Given the description of an element on the screen output the (x, y) to click on. 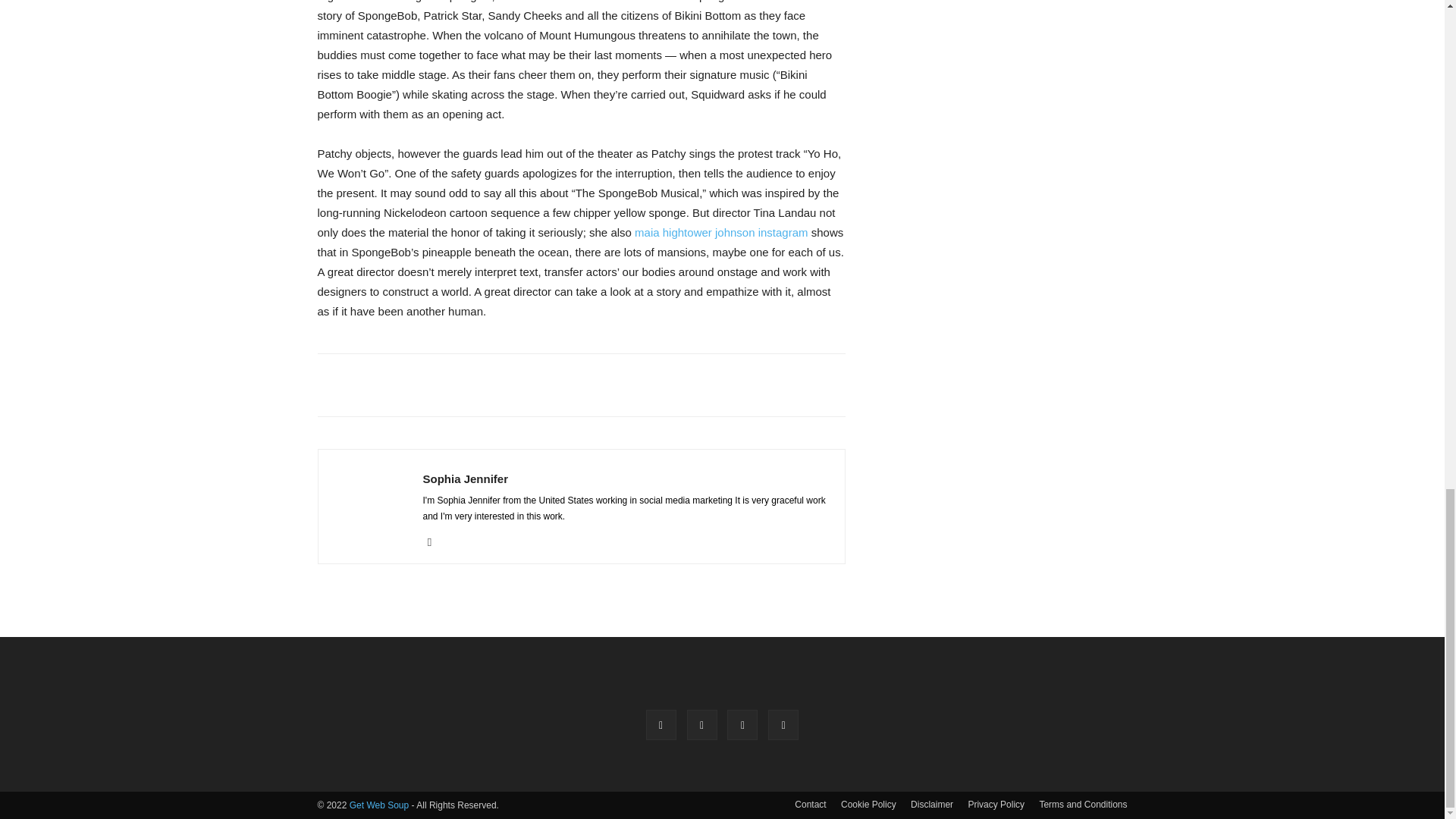
Facebook (661, 725)
Pinterest (702, 725)
Xing (435, 542)
